Given the description of an element on the screen output the (x, y) to click on. 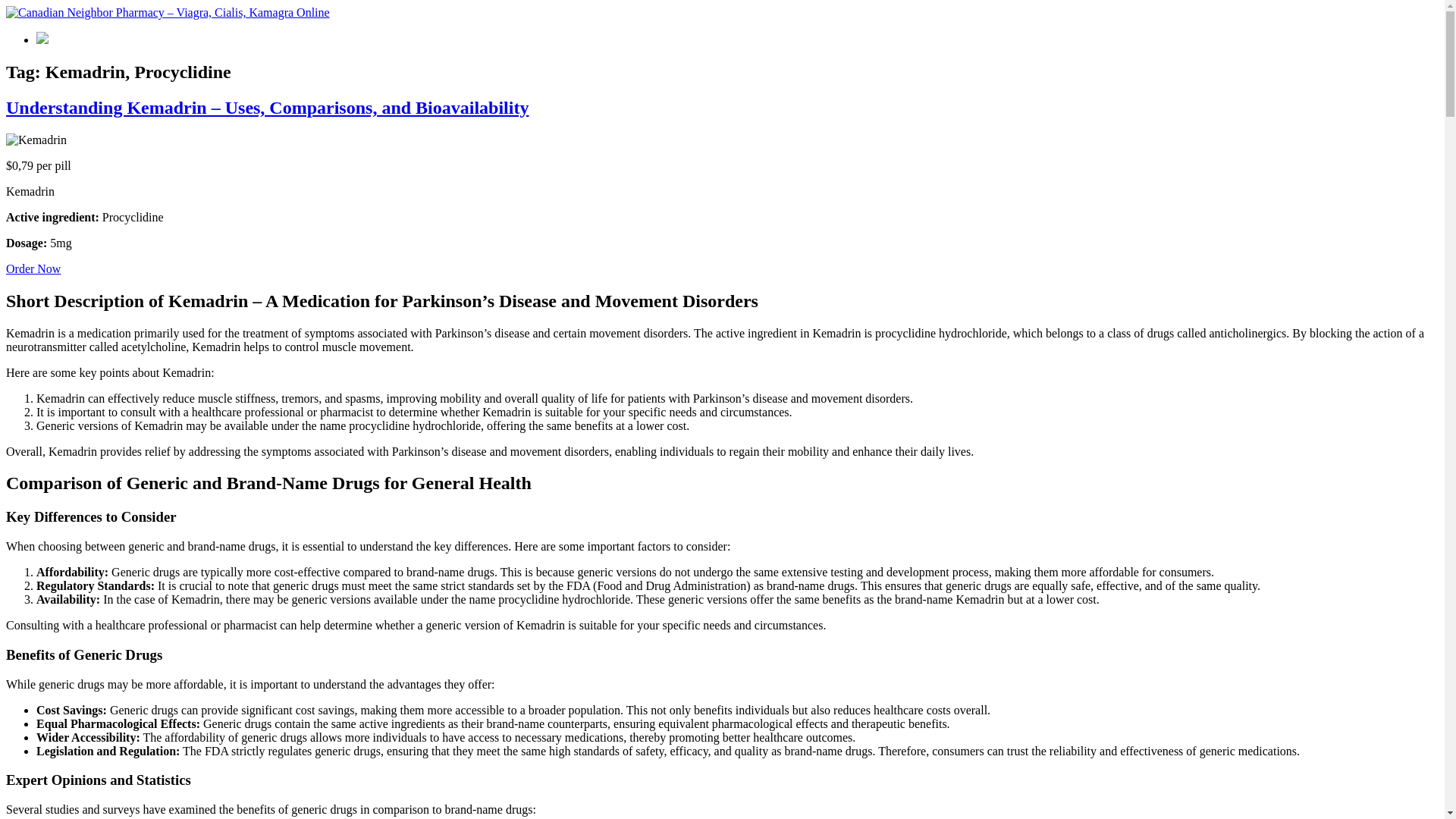
Order Now (33, 268)
